Given the description of an element on the screen output the (x, y) to click on. 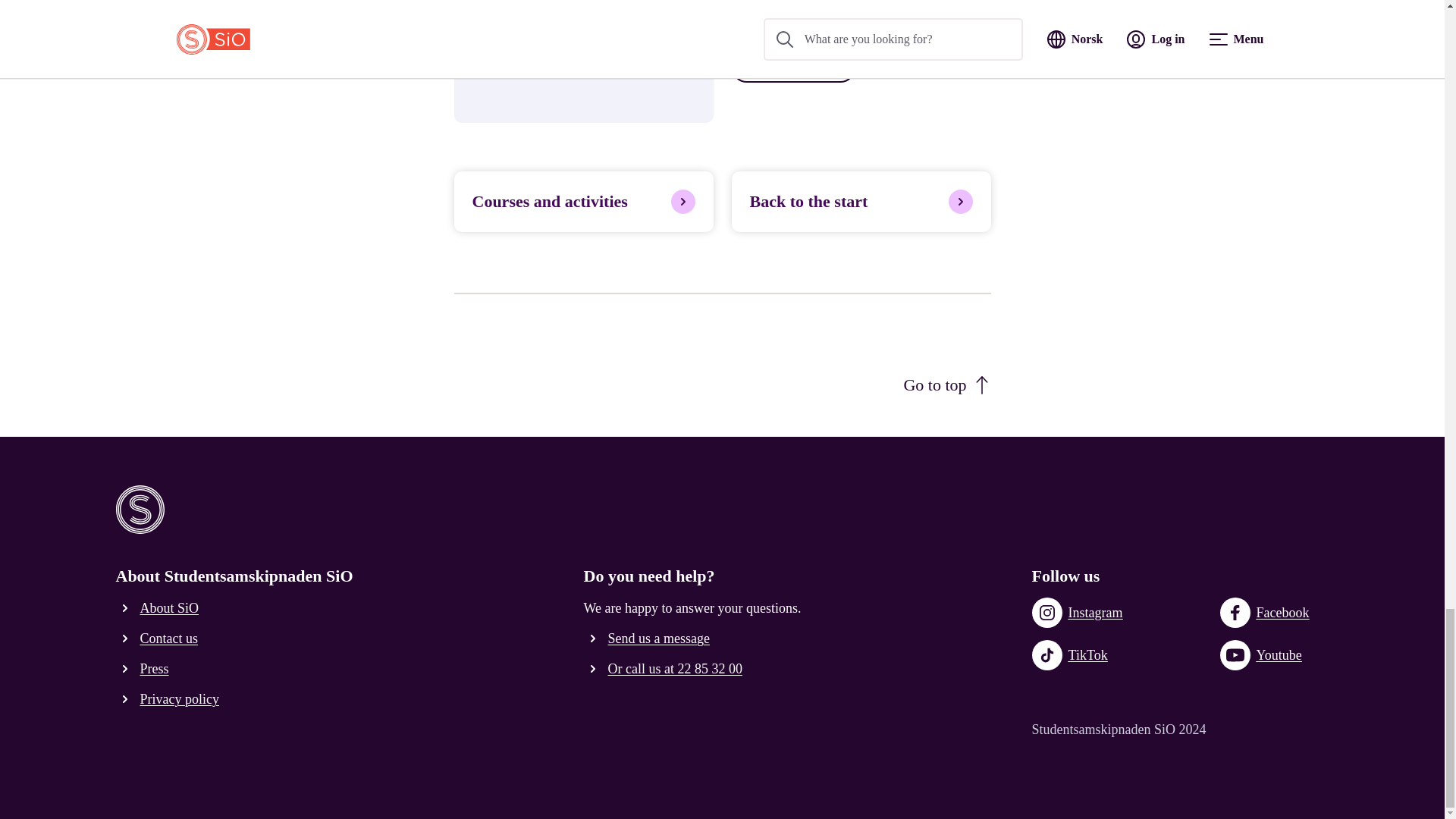
chevron (592, 669)
instagram-icon (1047, 612)
chevron (124, 669)
About SiO (160, 608)
Contact us (159, 638)
Instagram (1077, 612)
chevron (124, 699)
Facebook (1265, 612)
chevron (592, 638)
Courses and activities (582, 201)
